Given the description of an element on the screen output the (x, y) to click on. 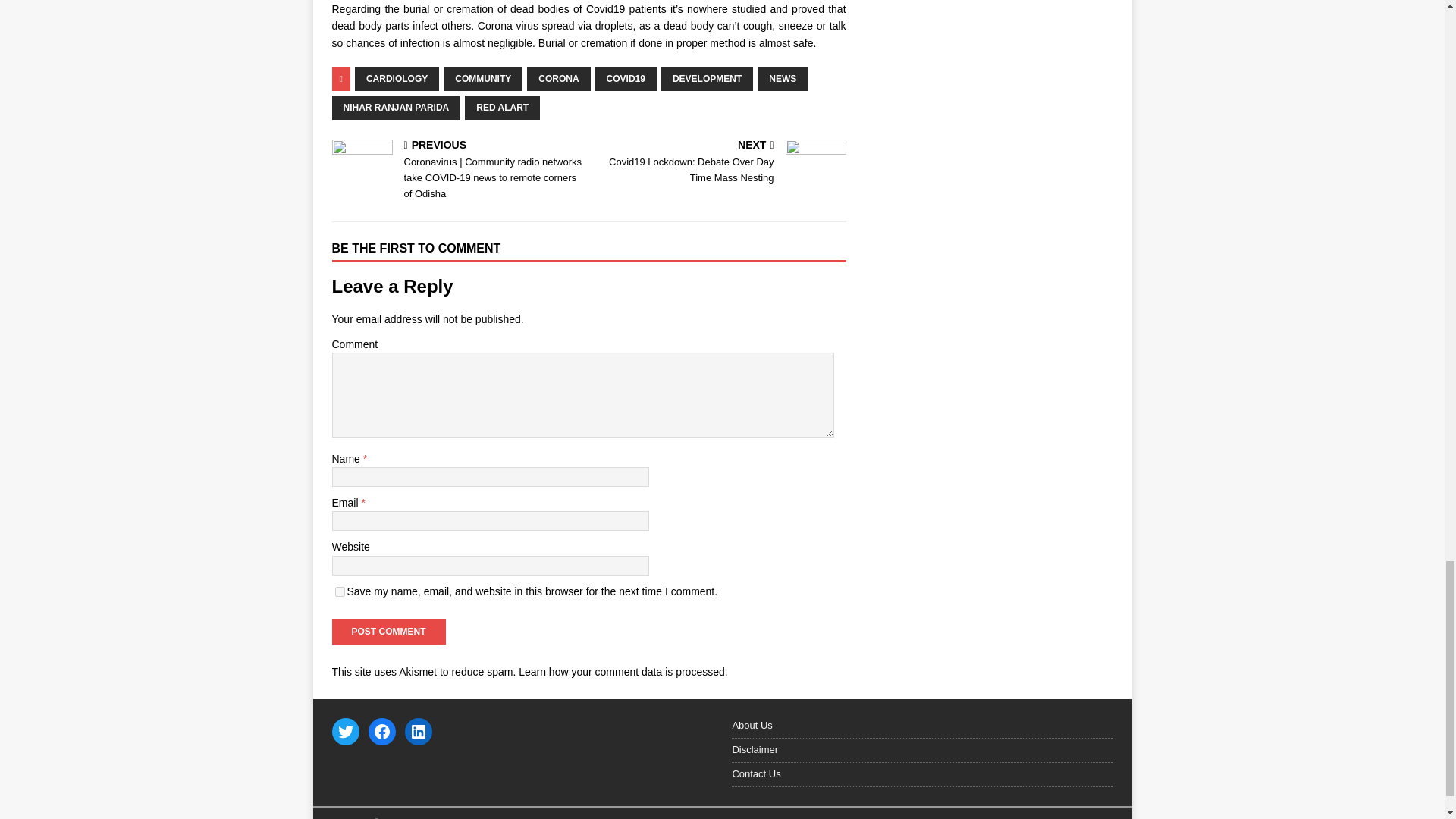
NIHAR RANJAN PARIDA (396, 107)
NEWS (782, 78)
Post Comment (388, 631)
DEVELOPMENT (706, 78)
Learn how your comment data is processed (621, 671)
CARDIOLOGY (397, 78)
COVID19 (625, 78)
Post Comment (388, 631)
COMMUNITY (483, 78)
RED ALART (502, 107)
